Given the description of an element on the screen output the (x, y) to click on. 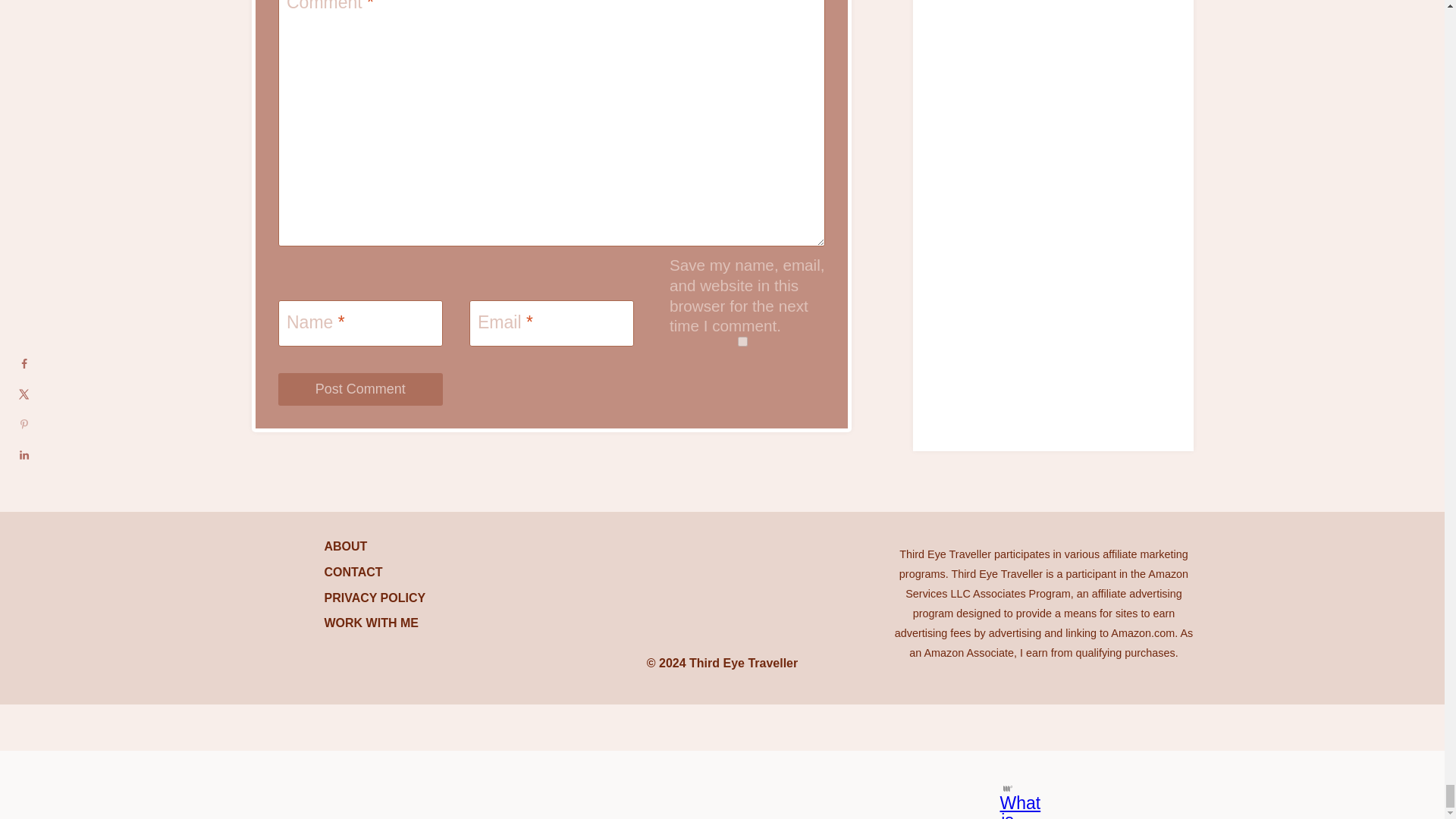
yes (742, 341)
Post Comment (360, 389)
